Given the description of an element on the screen output the (x, y) to click on. 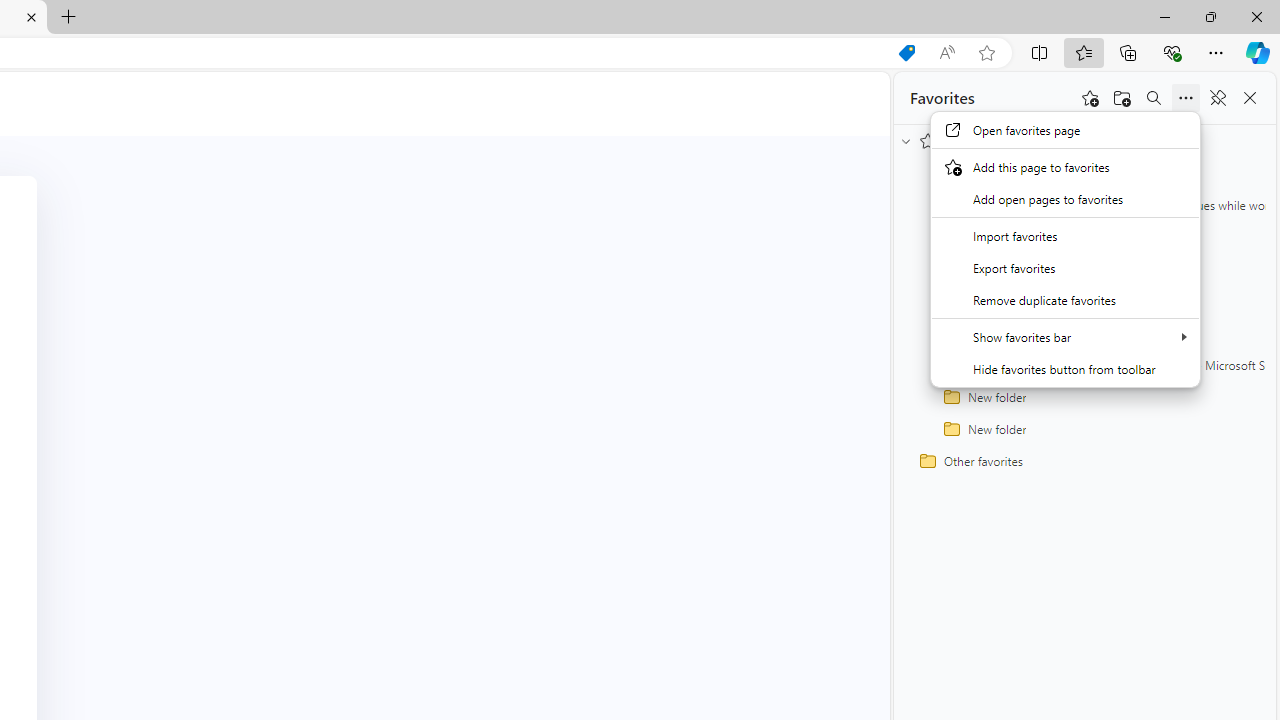
Import favorites (1065, 235)
Add folder (1122, 98)
Hide favorites button from toolbar (1065, 368)
Context (1065, 249)
Export favorites (1065, 267)
Add this page to favorites (1089, 98)
Open favorites page (1065, 129)
Add open pages to favorites (1065, 198)
